Given the description of an element on the screen output the (x, y) to click on. 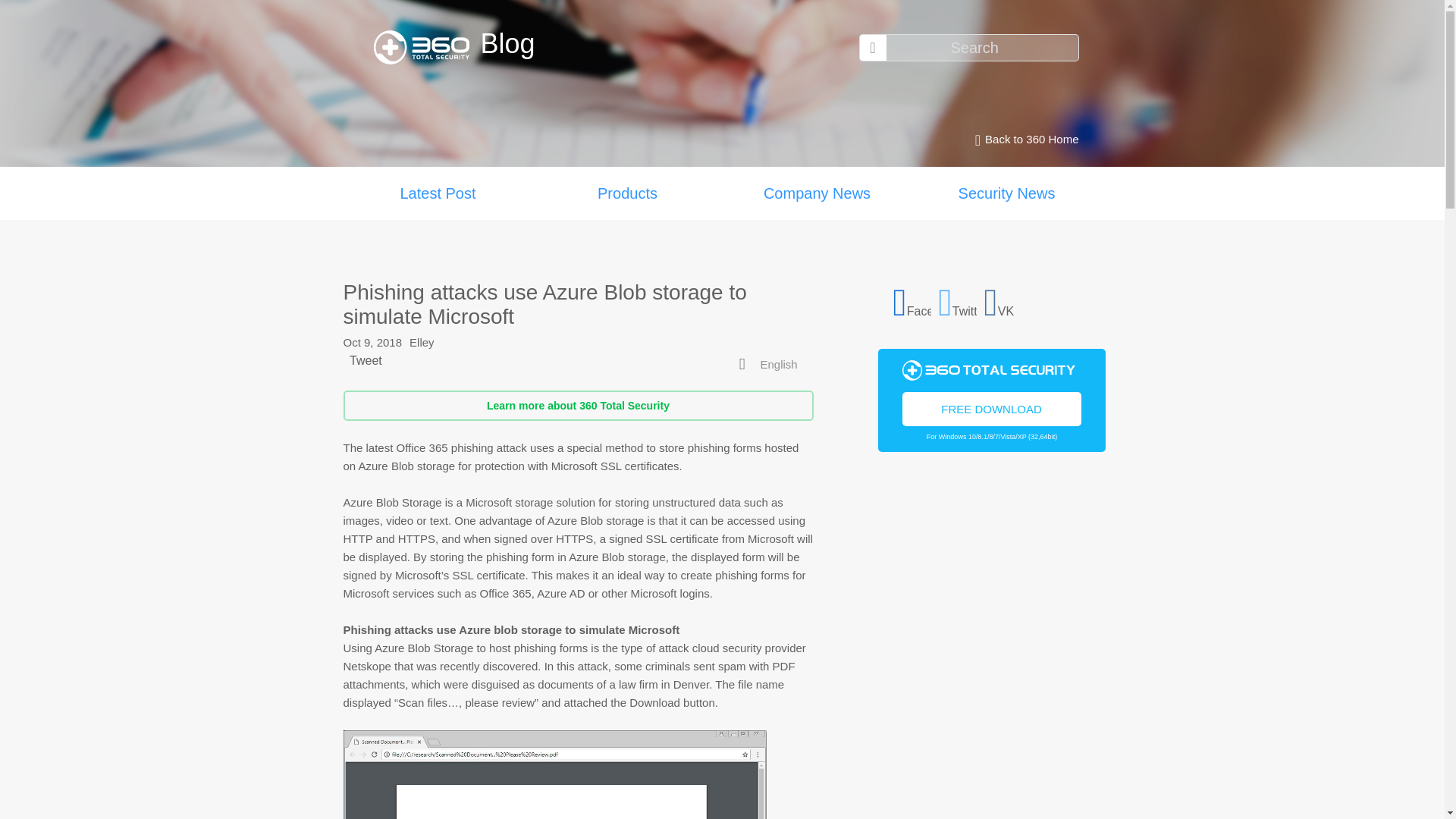
VK (1003, 299)
Latest Post (437, 193)
Tweet (365, 359)
Products (627, 193)
Free Download (991, 408)
Security News (1005, 193)
FREE DOWNLOAD (991, 408)
Twitter (957, 299)
Facebook (912, 299)
Company News (816, 193)
Learn more about 360 Total Security (577, 405)
Back to 360 Home (1022, 140)
360 Total Security Blog Logo (426, 47)
Learn more about 360 Total Security (577, 405)
